Given the description of an element on the screen output the (x, y) to click on. 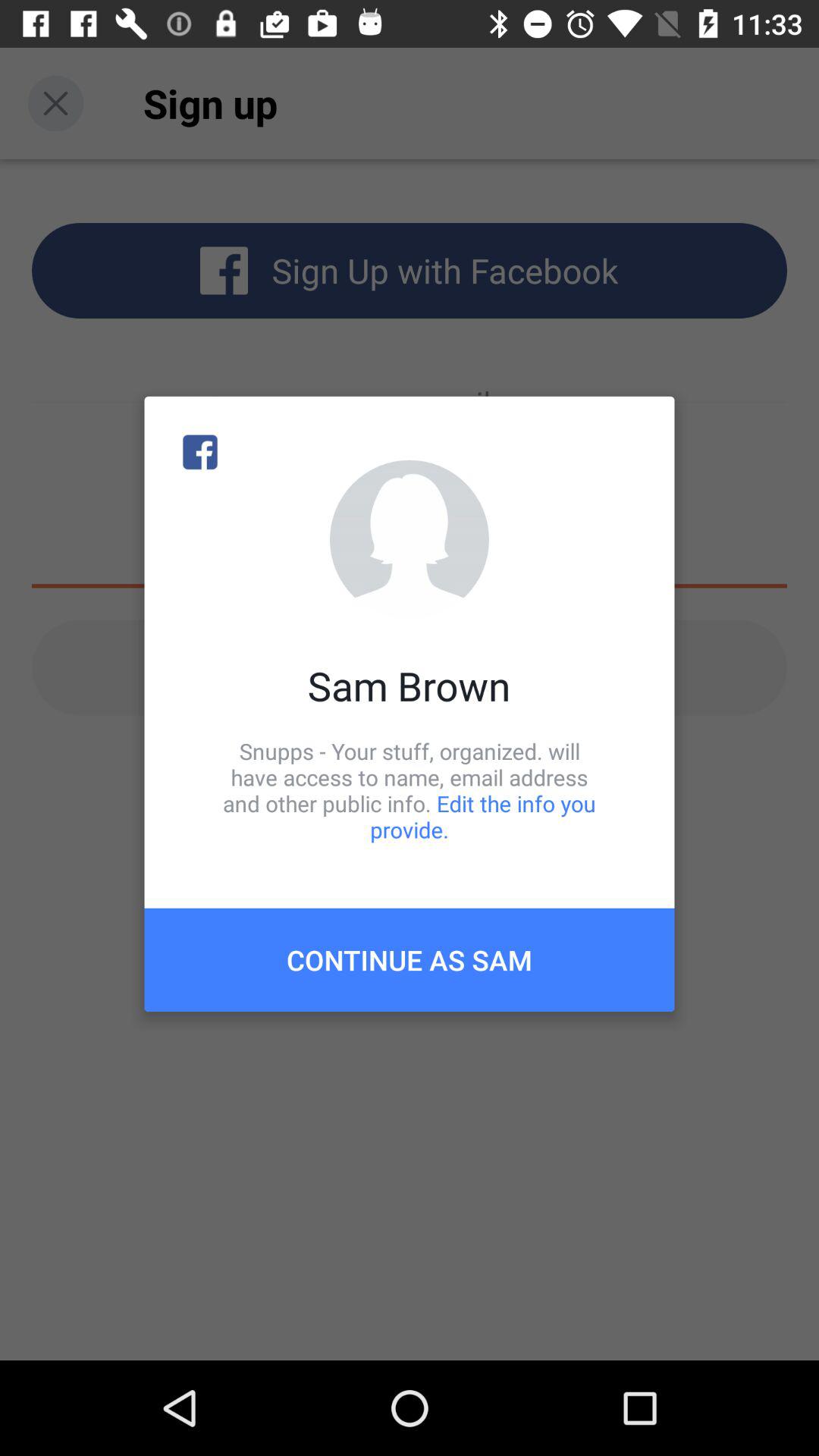
open snupps your stuff item (409, 789)
